Given the description of an element on the screen output the (x, y) to click on. 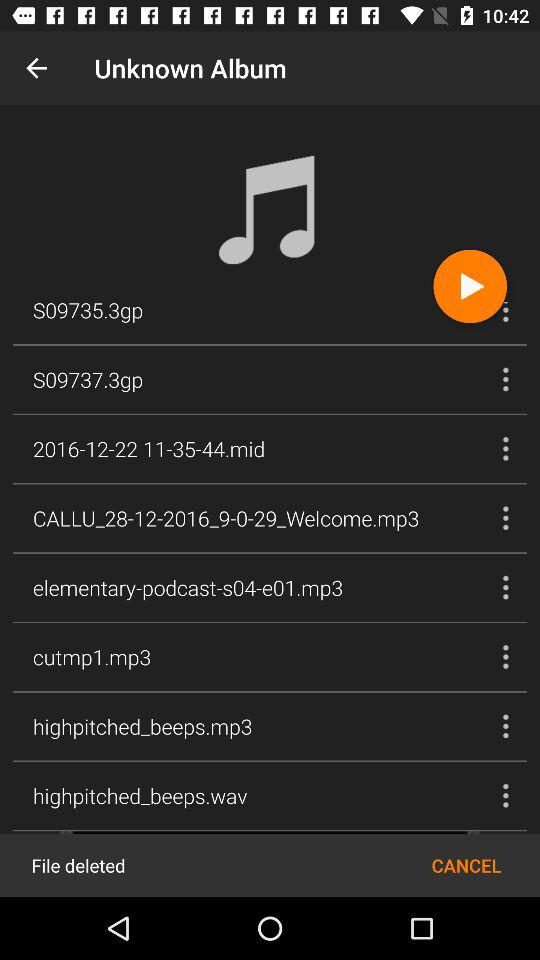
choose cancel icon (466, 864)
